Given the description of an element on the screen output the (x, y) to click on. 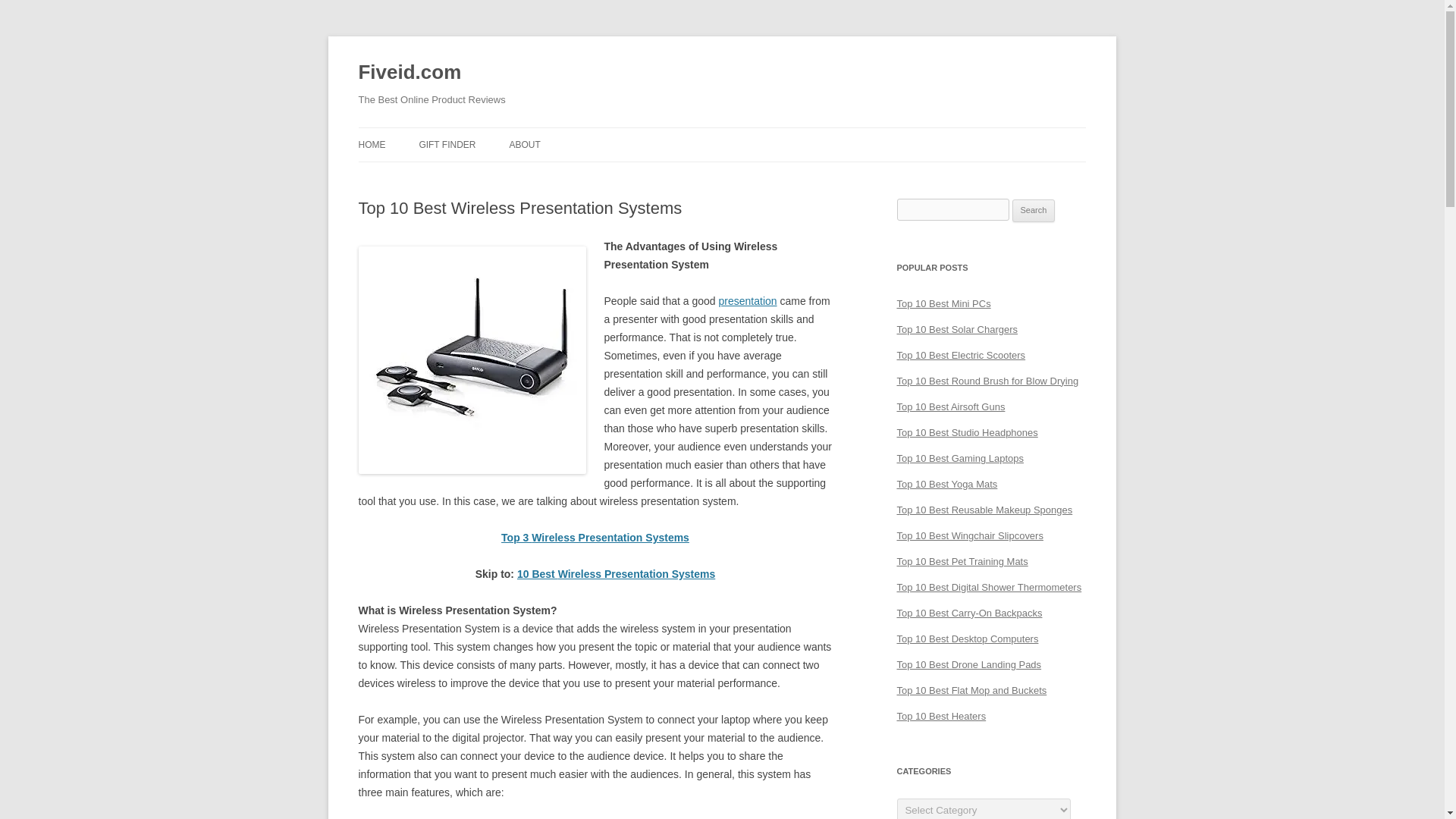
ABOUT (524, 144)
CONTACT (584, 176)
Search (1033, 210)
GIFT FINDER (447, 144)
presentation (748, 300)
Top 3 (515, 537)
Top 7 Best Wireless Presentation Systems (471, 360)
Wireless Presentation Systems (636, 573)
Wireless Presentation Systems (609, 537)
